Given the description of an element on the screen output the (x, y) to click on. 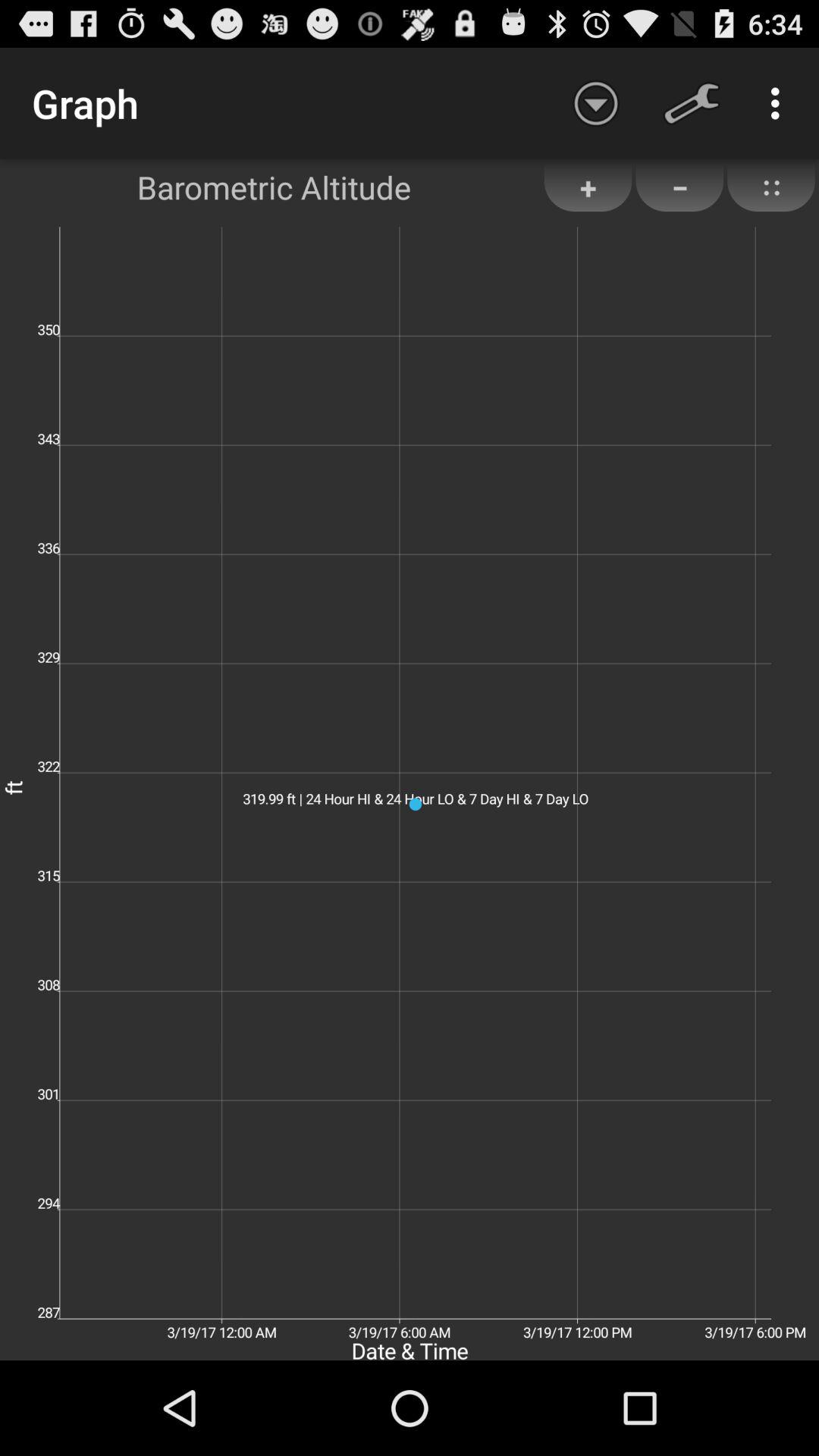
tap app next to the barometric altitude (595, 103)
